Given the description of an element on the screen output the (x, y) to click on. 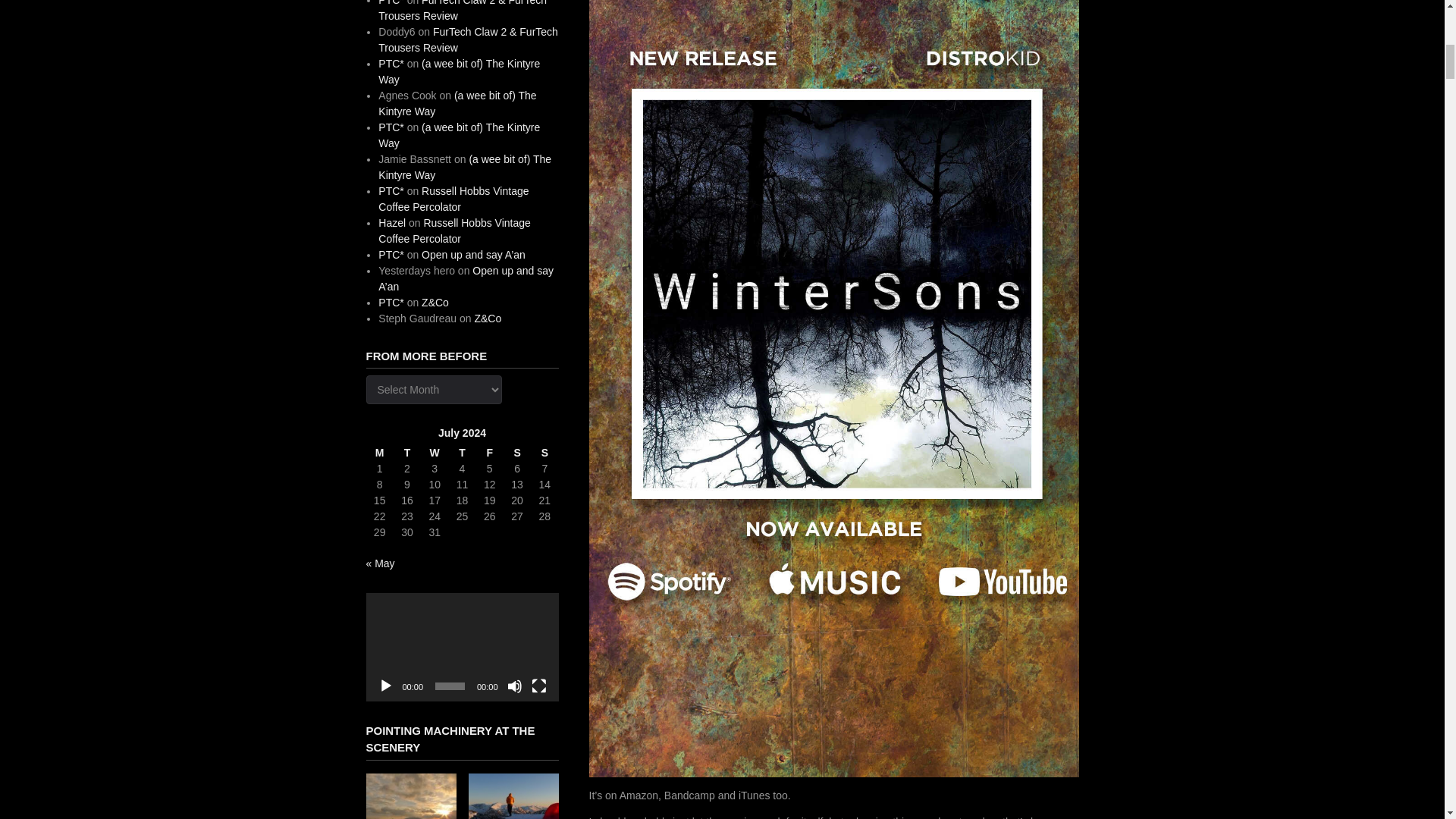
Thursday (462, 453)
Tuesday (406, 453)
Wednesday (434, 453)
Sunday (544, 453)
Monday (379, 453)
Friday (489, 453)
Saturday (517, 453)
Play (385, 685)
